Given the description of an element on the screen output the (x, y) to click on. 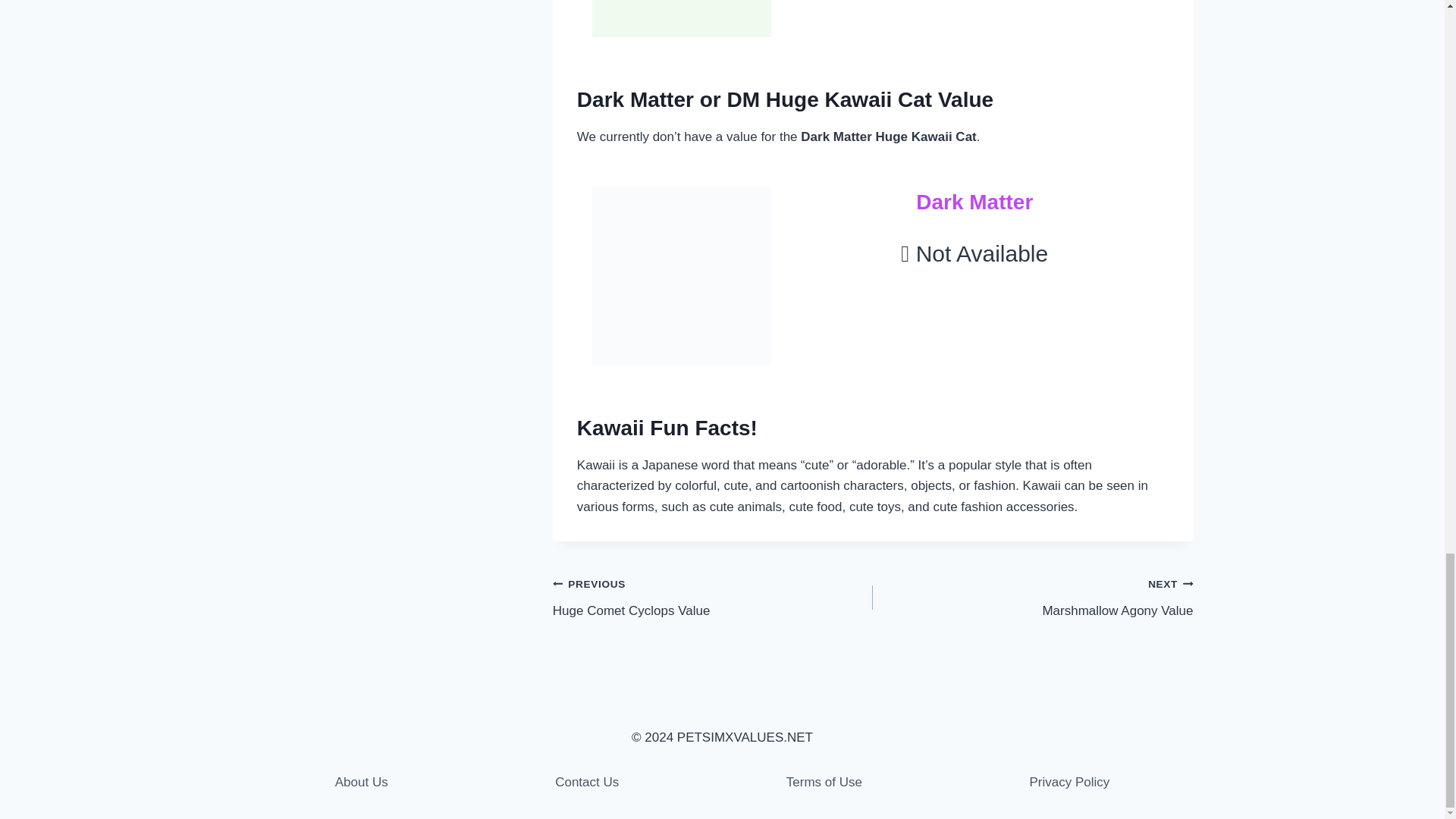
Contact Us (586, 782)
About Us (361, 782)
